Given the description of an element on the screen output the (x, y) to click on. 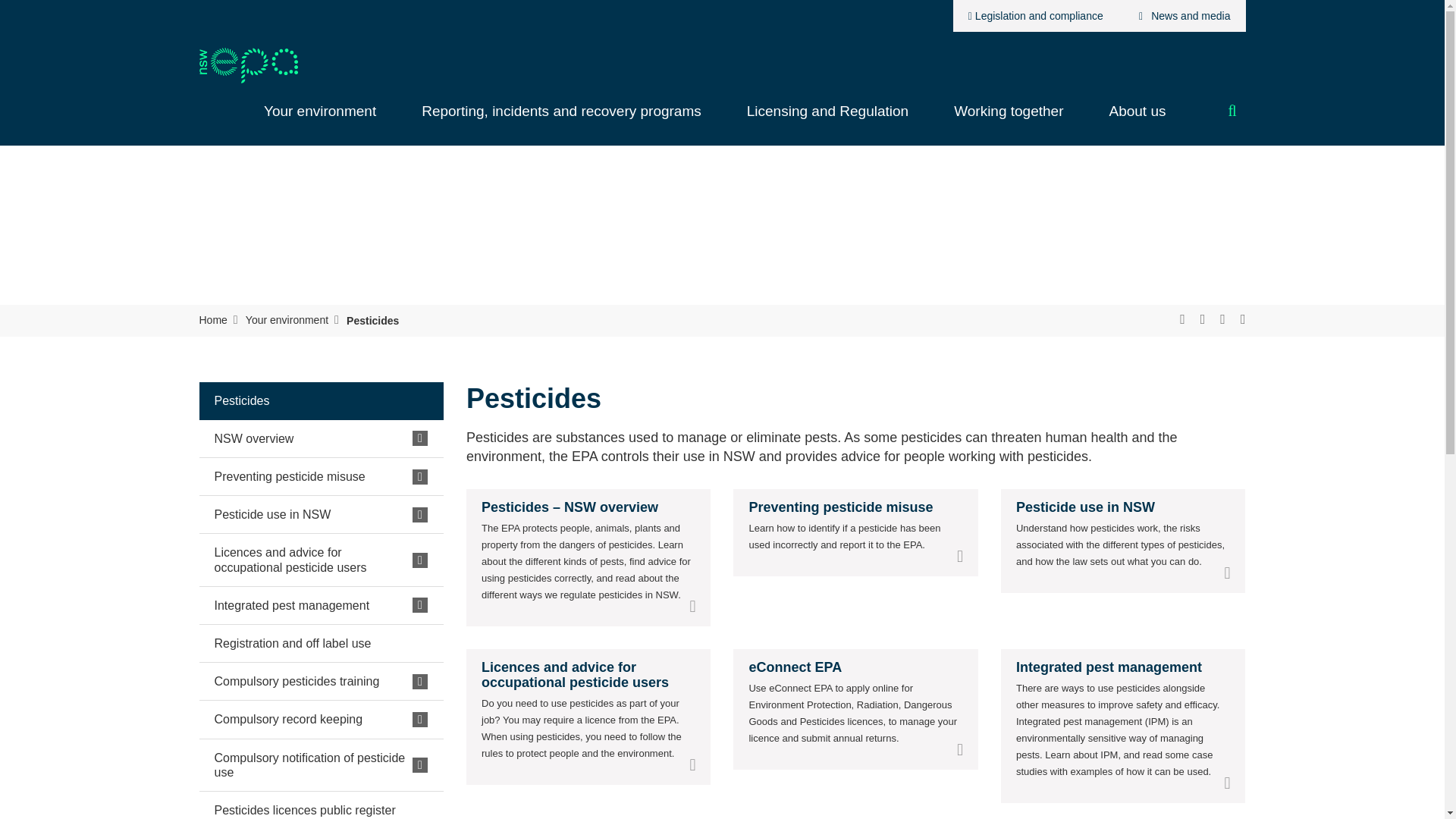
Licensing and Regulation (827, 118)
News and media (1182, 15)
Your environment (319, 118)
Reporting, incidents and recovery programs (560, 118)
Legislation and compliance (1035, 15)
